Given the description of an element on the screen output the (x, y) to click on. 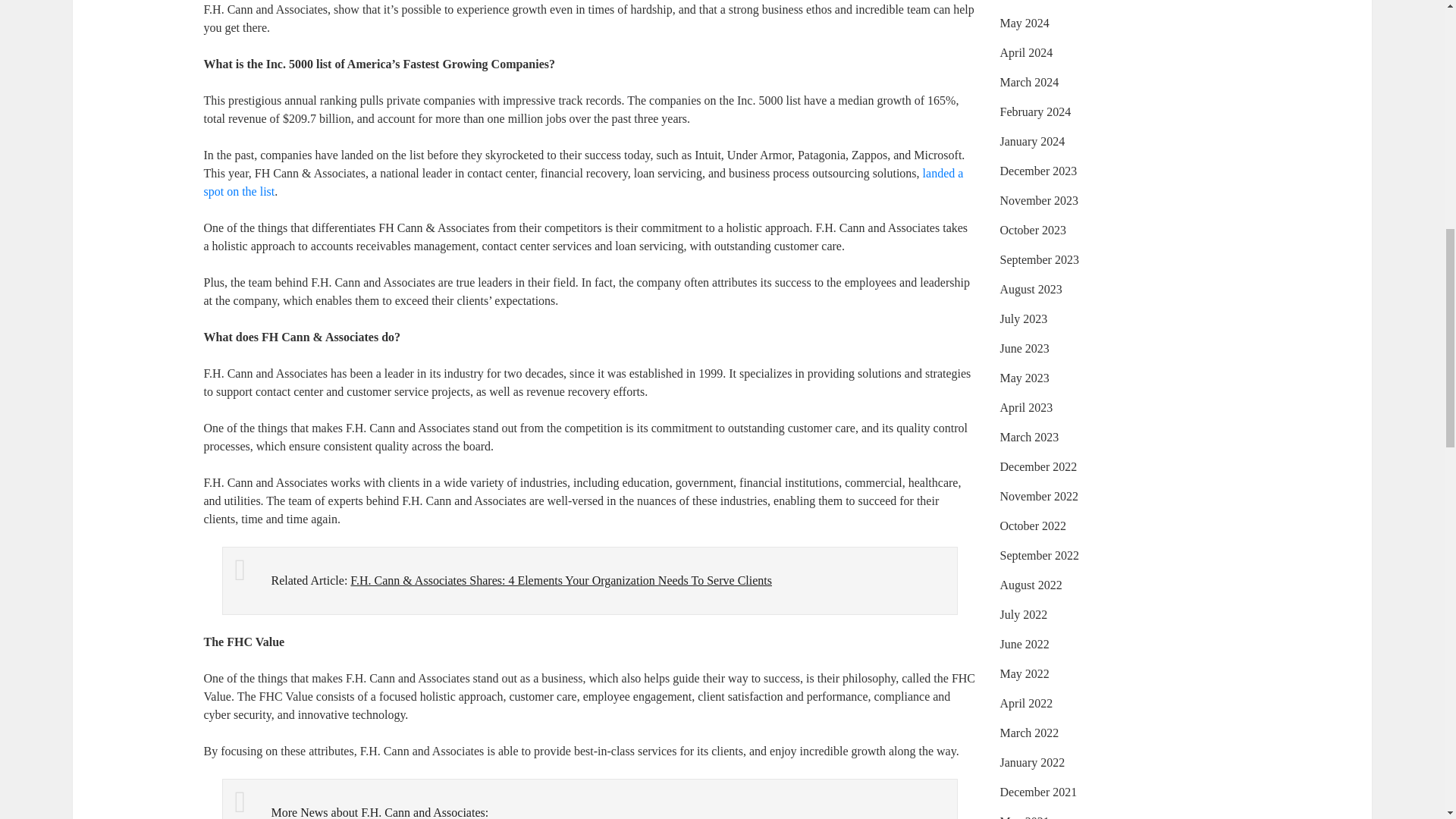
landed a spot on the list (582, 182)
